Given the description of an element on the screen output the (x, y) to click on. 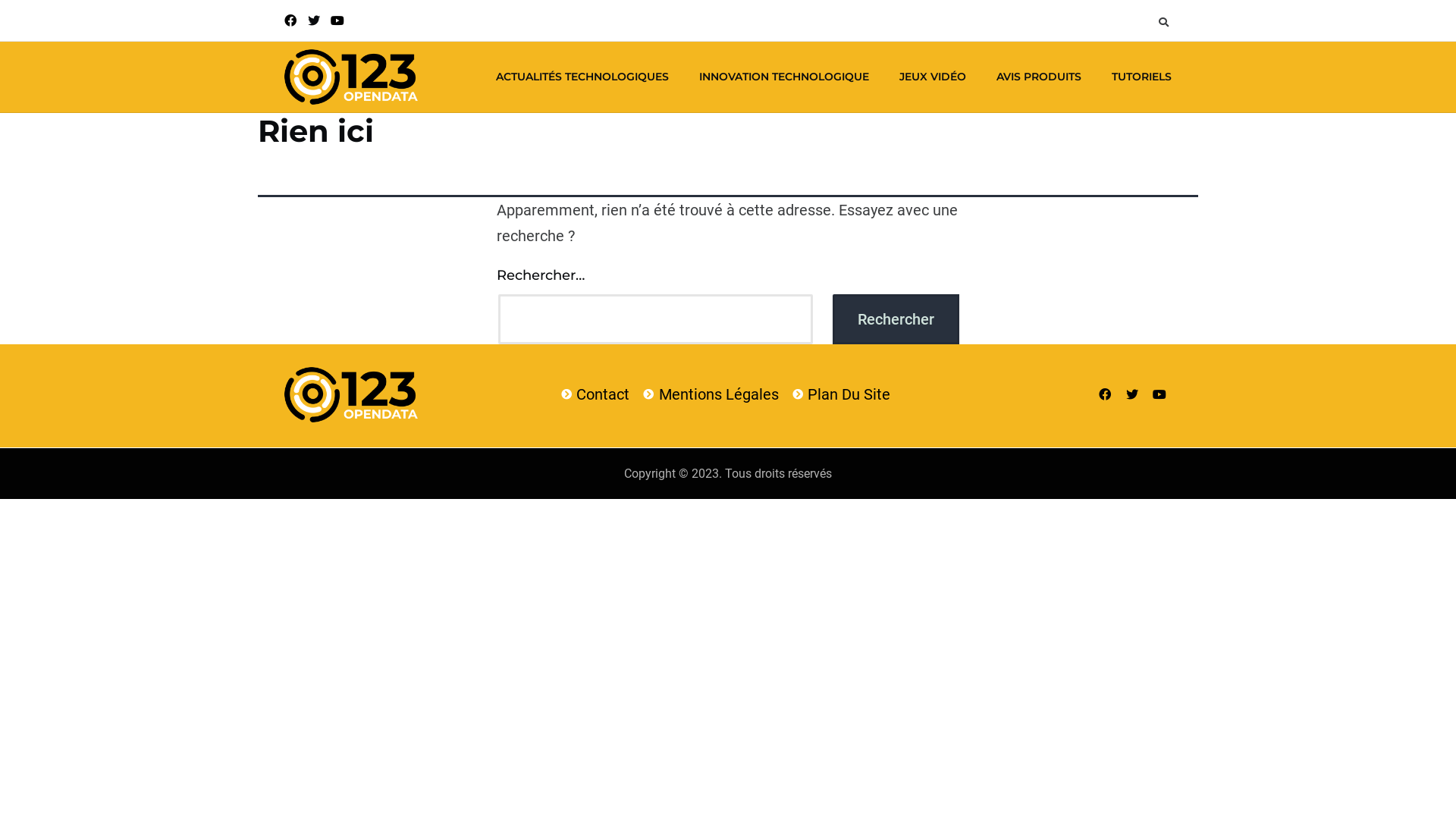
Plan Du Site Element type: text (840, 393)
Contact Element type: text (594, 393)
Rechercher Element type: text (895, 319)
INNOVATION TECHNOLOGIQUE Element type: text (784, 76)
TUTORIELS Element type: text (1141, 76)
AVIS PRODUITS Element type: text (1038, 76)
